Given the description of an element on the screen output the (x, y) to click on. 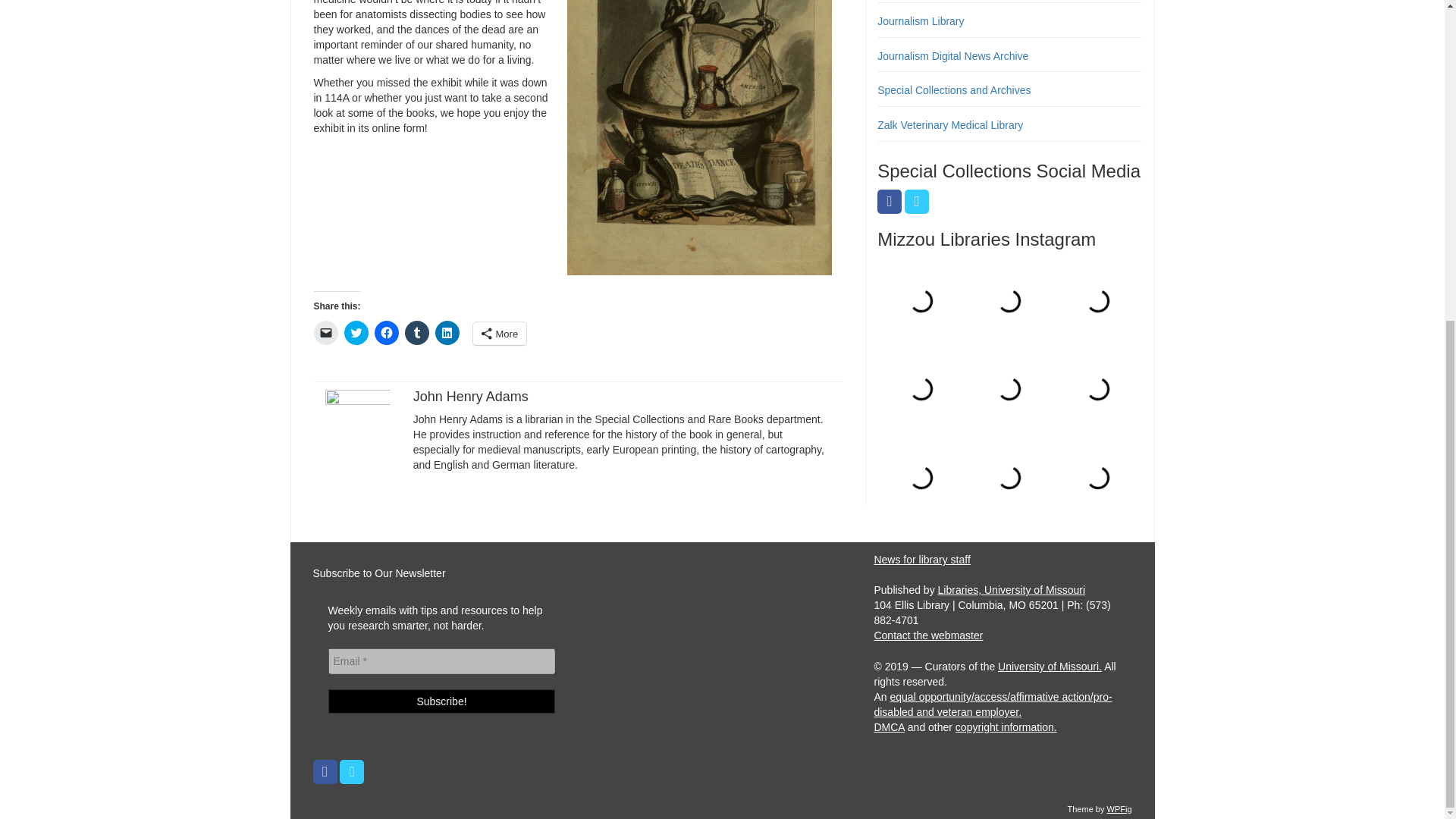
Click to share on LinkedIn (447, 332)
Subscribe! (440, 701)
Click to share on Facebook (386, 332)
Click to email a link to a friend (325, 332)
More (500, 333)
Click to share on Tumblr (416, 332)
Email (440, 661)
Click to share on Twitter (355, 332)
